Given the description of an element on the screen output the (x, y) to click on. 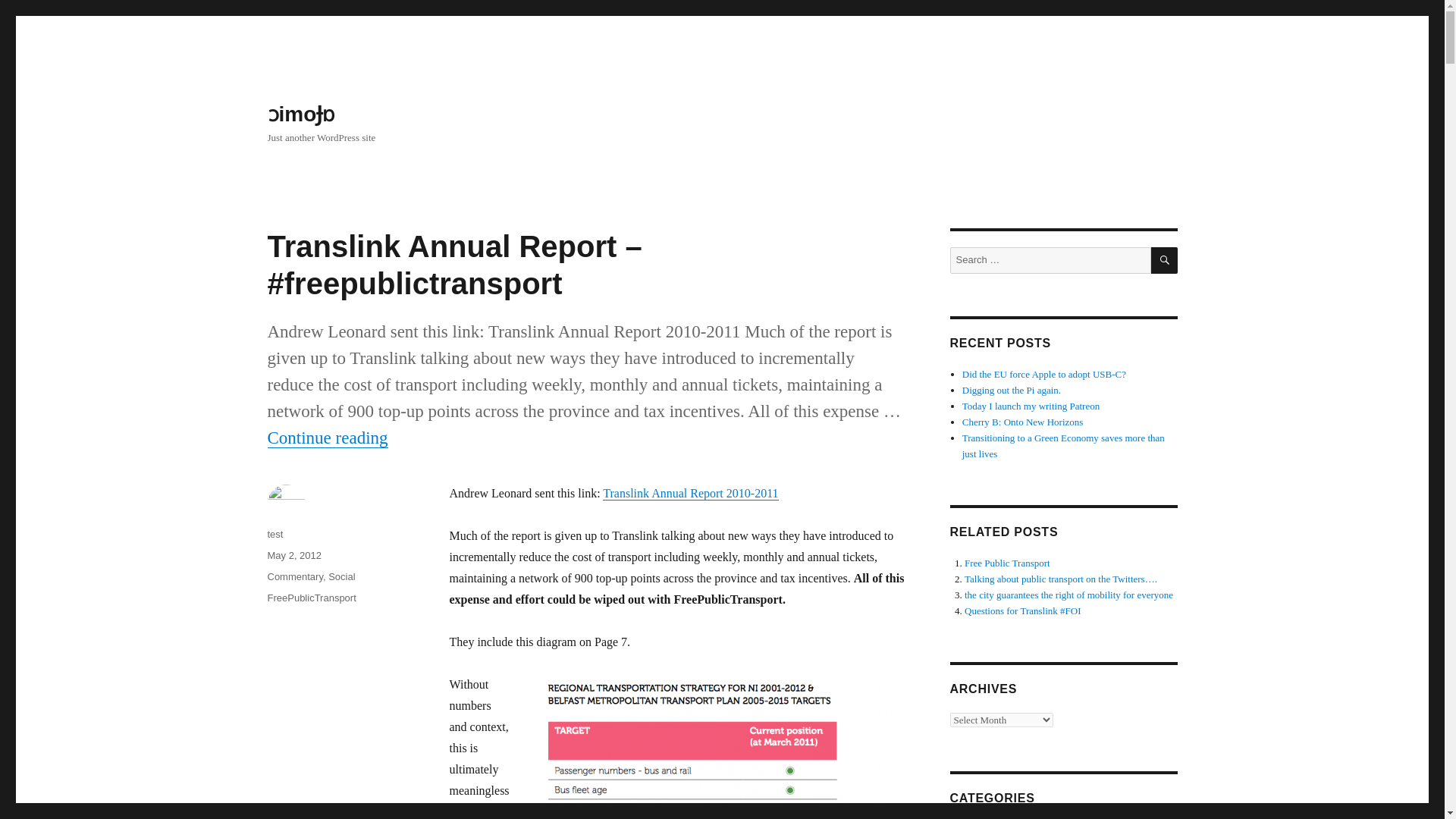
FreePublicTransport (310, 597)
test (274, 533)
Commentary (293, 576)
Social (342, 576)
Meaningless stats (718, 748)
May 2, 2012 (293, 555)
Translink Annual Report 2010-2011 (689, 492)
